Given the description of an element on the screen output the (x, y) to click on. 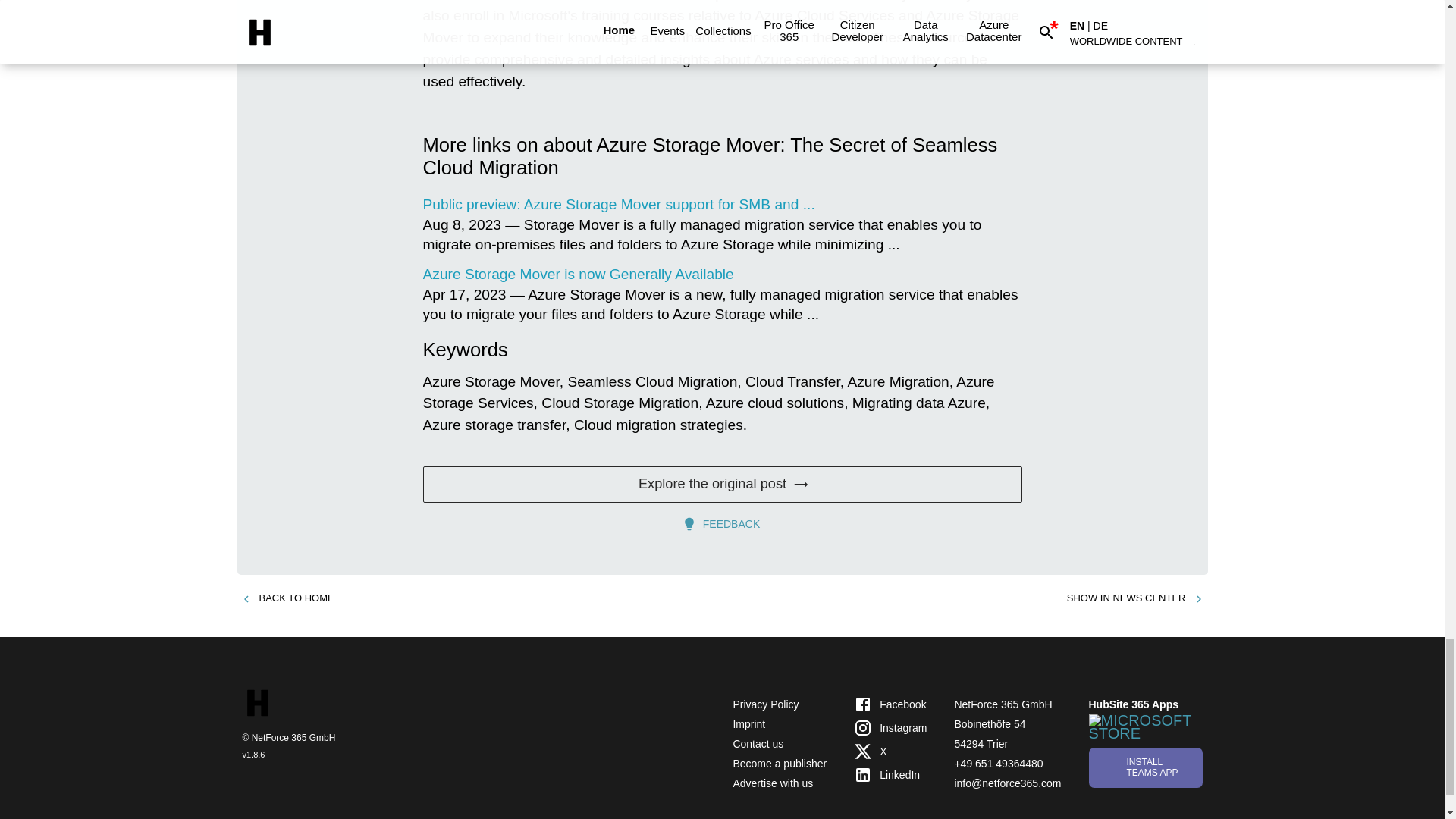
FEEDBACK (721, 524)
X (889, 751)
Public preview: Azure Storage Mover support for SMB and ... (619, 204)
Explore the original post (722, 484)
Advertise with us (772, 783)
Facebook (889, 704)
Contact us (757, 743)
Privacy Policy (764, 704)
Azure Storage Mover is now Generally Available (578, 273)
BACK TO HOME (286, 598)
